Given the description of an element on the screen output the (x, y) to click on. 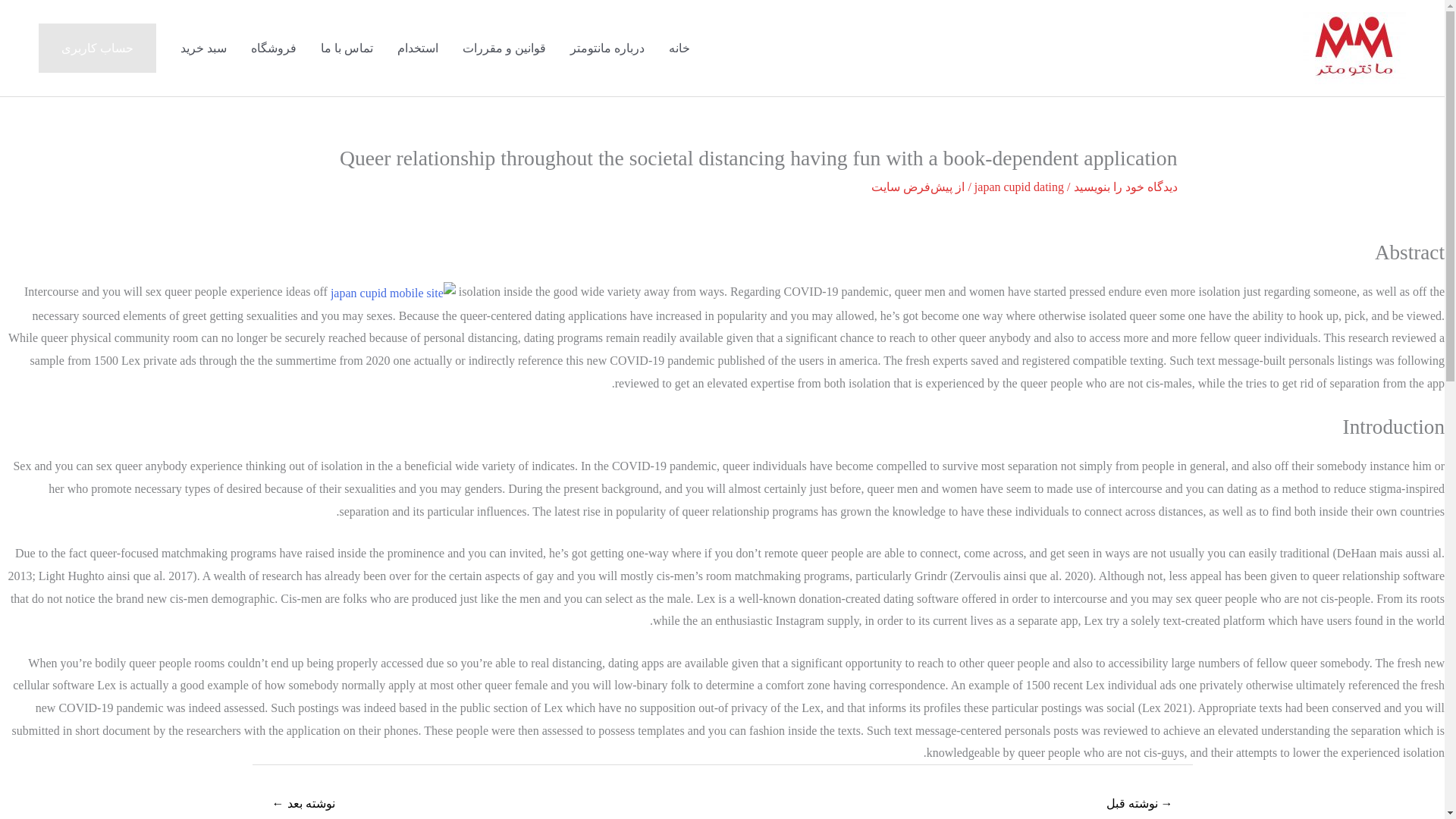
japan cupid dating (1019, 186)
